Given the description of an element on the screen output the (x, y) to click on. 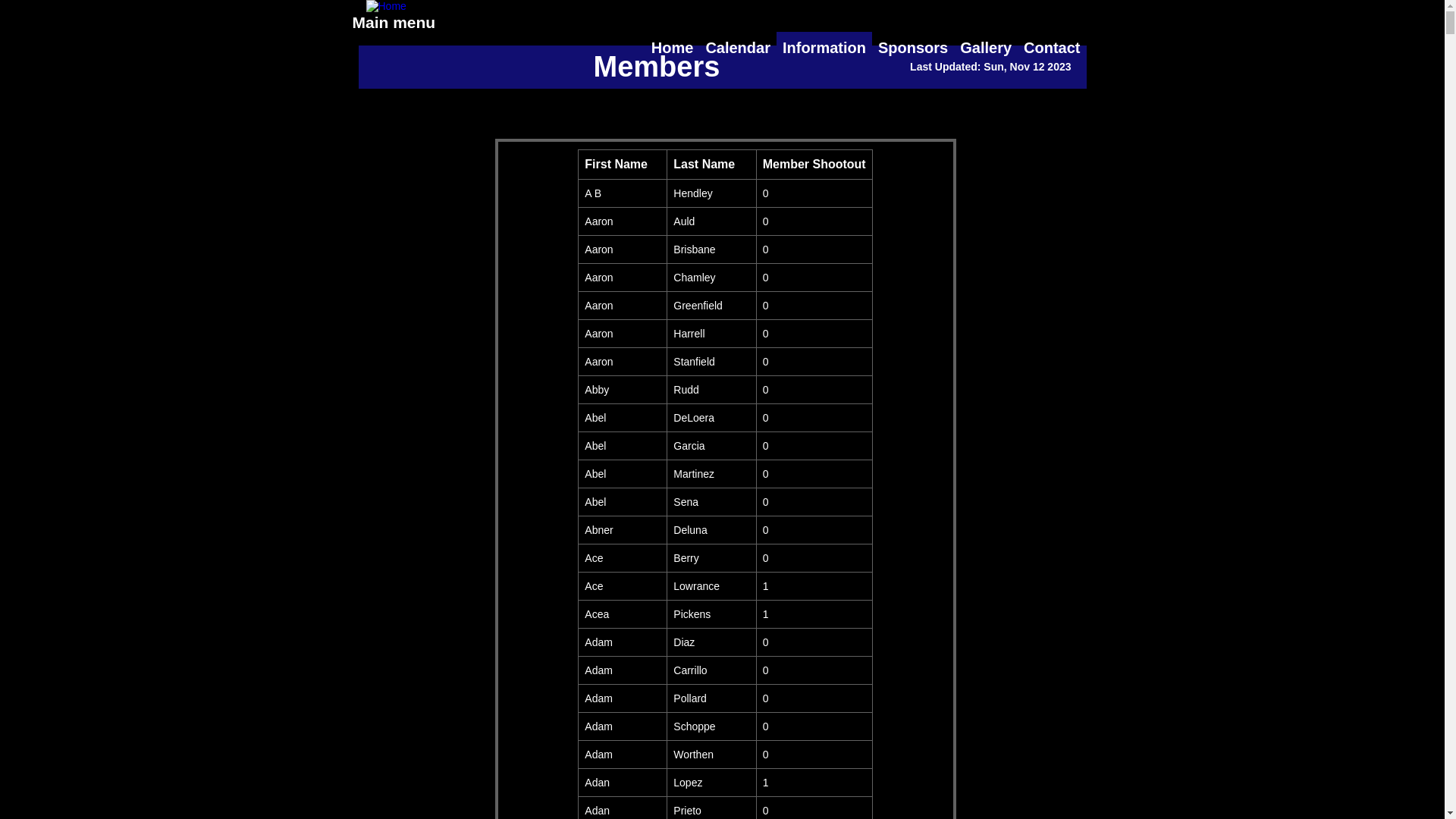
Gallery Element type: text (985, 47)
Sponsors Element type: text (912, 47)
Home Element type: text (672, 47)
Home Element type: hover (479, 65)
Contact Element type: text (1051, 47)
Calendar Element type: text (737, 47)
